Given the description of an element on the screen output the (x, y) to click on. 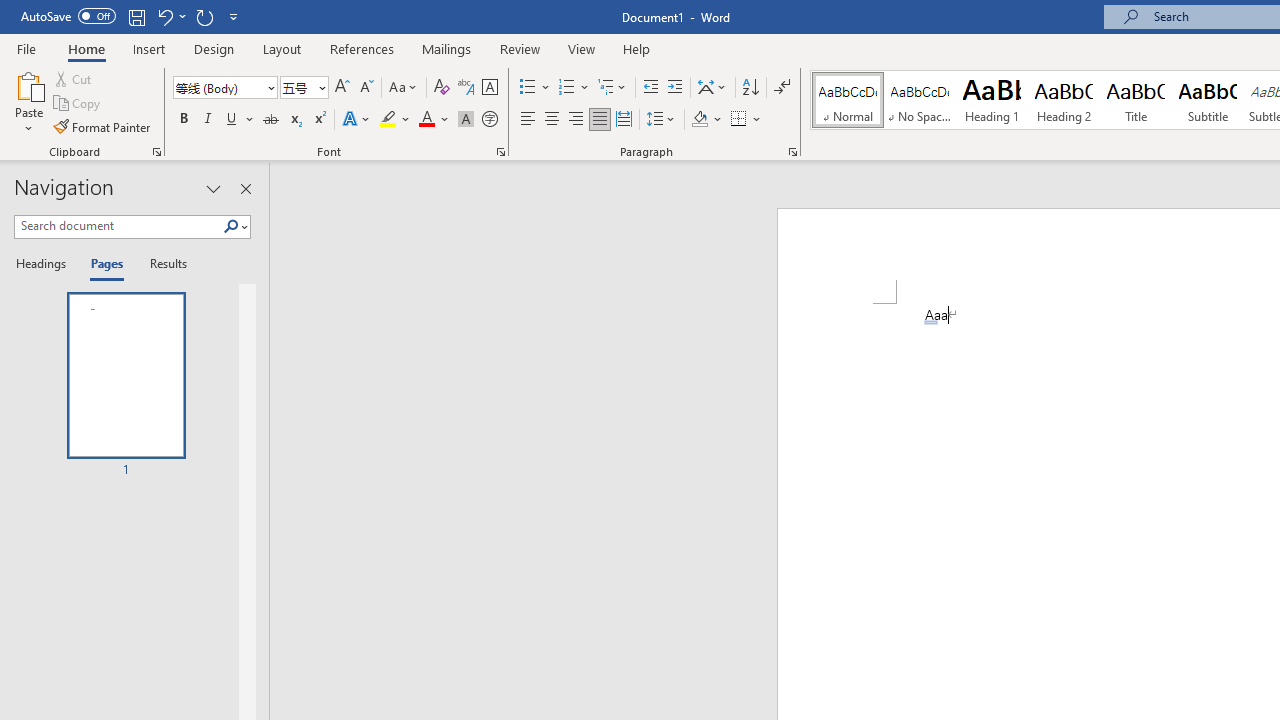
Bullets (527, 87)
Text Effects and Typography (357, 119)
Increase Indent (675, 87)
Search document (118, 226)
Subscript (294, 119)
Borders (739, 119)
Phonetic Guide... (465, 87)
Title (1135, 100)
Customize Quick Access Toolbar (234, 15)
Shading (706, 119)
Class: NetUIImage (231, 226)
View (582, 48)
Character Border (489, 87)
Underline (232, 119)
